Given the description of an element on the screen output the (x, y) to click on. 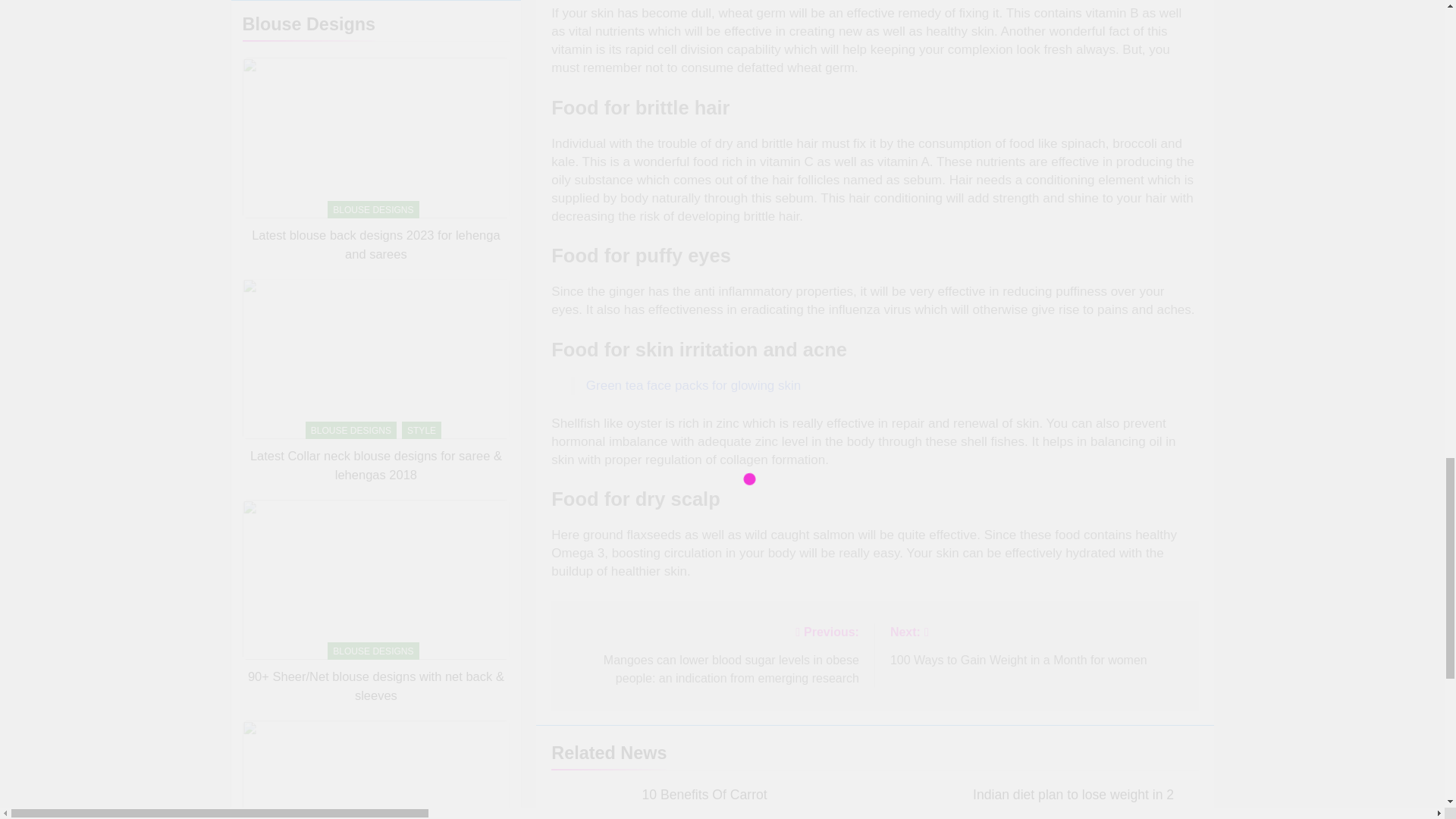
Rakshana (671, 816)
Green tea face packs for glowing skin (1036, 644)
10 Benefits Of Carrot (693, 385)
